Given the description of an element on the screen output the (x, y) to click on. 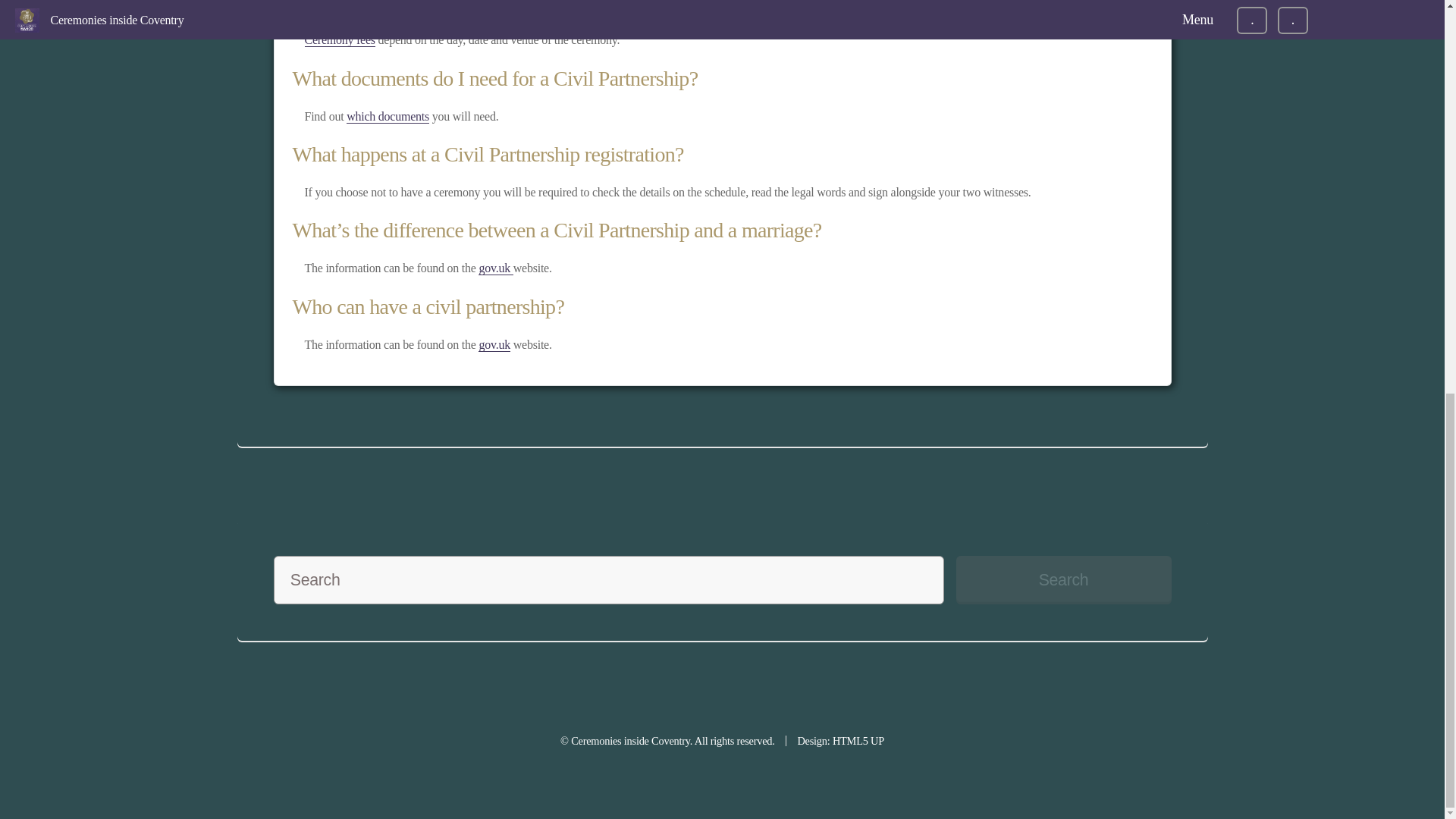
HTML5 UP (857, 740)
Search (1062, 580)
Search (1062, 580)
gov.uk (495, 268)
Ceremony fees (339, 39)
gov.uk (495, 345)
which documents (387, 116)
